Given the description of an element on the screen output the (x, y) to click on. 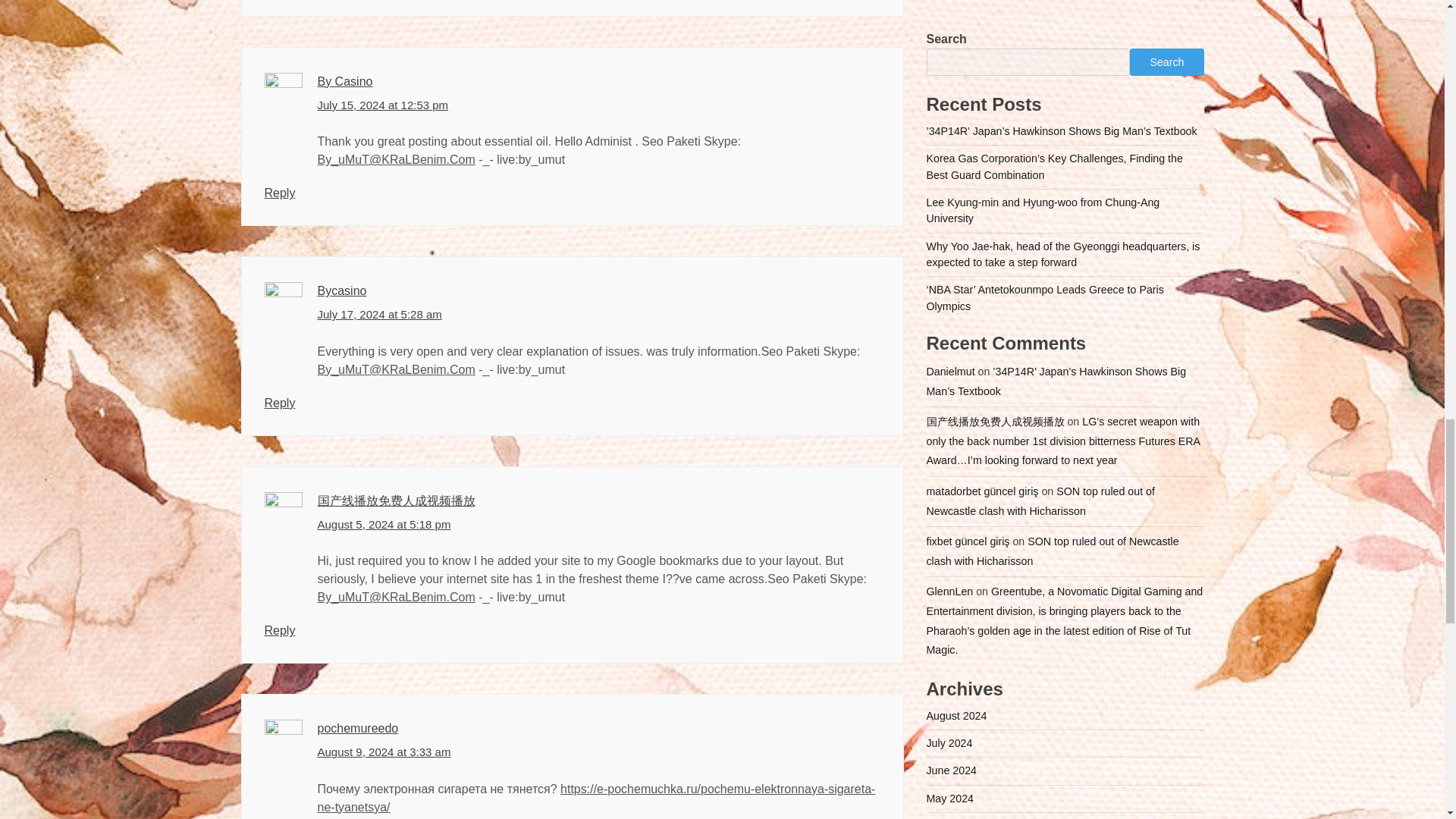
Reply (279, 630)
Reply (279, 402)
Reply (279, 192)
July 17, 2024 at 5:28 am (379, 314)
pochemureedo (357, 727)
By Casino (344, 81)
Bycasino (341, 290)
August 9, 2024 at 3:33 am (383, 752)
July 15, 2024 at 12:53 pm (382, 105)
August 5, 2024 at 5:18 pm (383, 524)
